Given the description of an element on the screen output the (x, y) to click on. 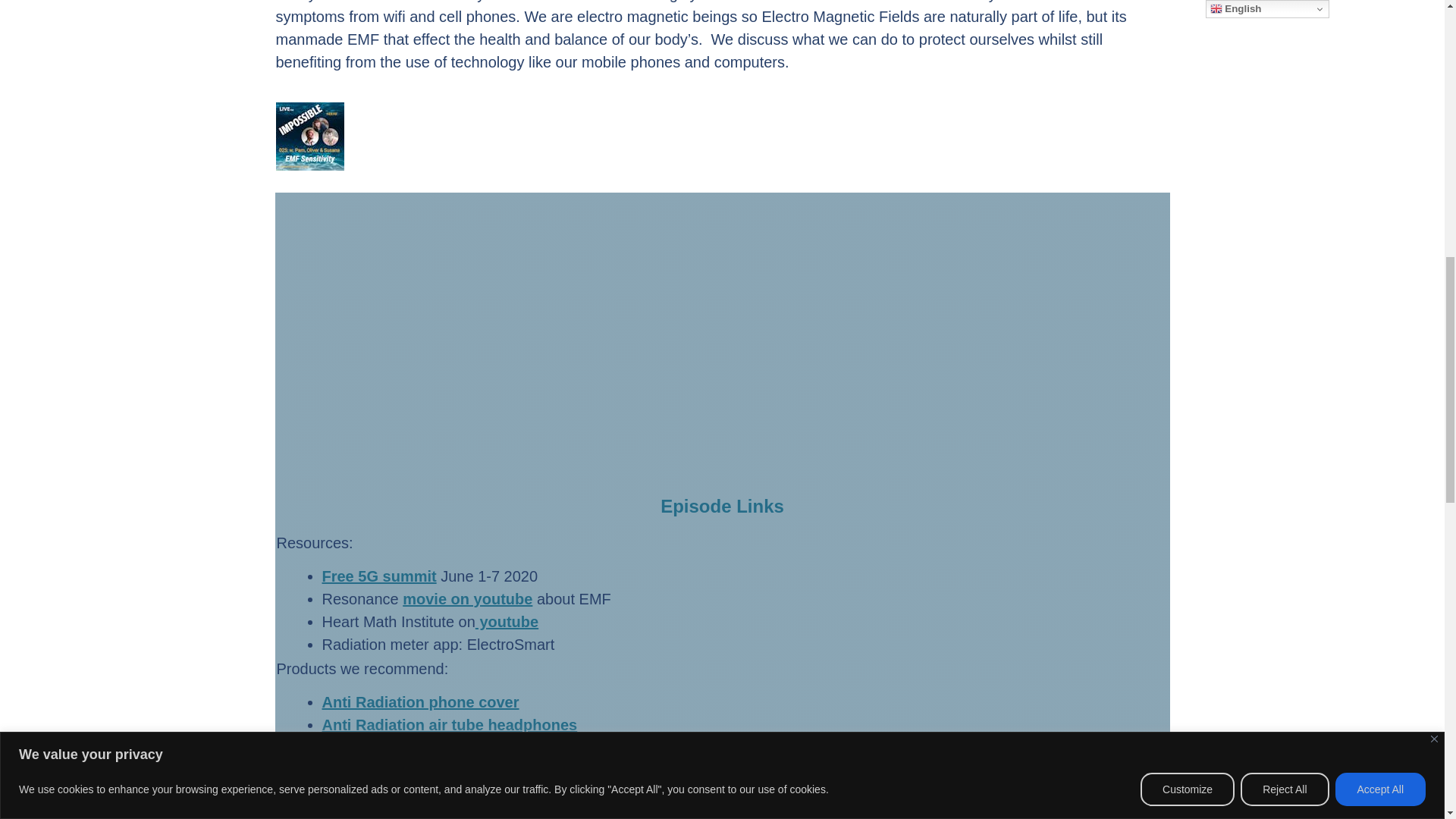
Anti radiation USB (388, 770)
youtube (507, 621)
Free 5G summit (378, 576)
Anti Radiation phone cover (419, 701)
Home plugs (364, 813)
movie on (435, 598)
Silver Fiber Fabric Radiation EMF Protection (481, 792)
Orgonites (357, 747)
Anti Radiation air tube headphones (448, 724)
youtube (500, 598)
